Given the description of an element on the screen output the (x, y) to click on. 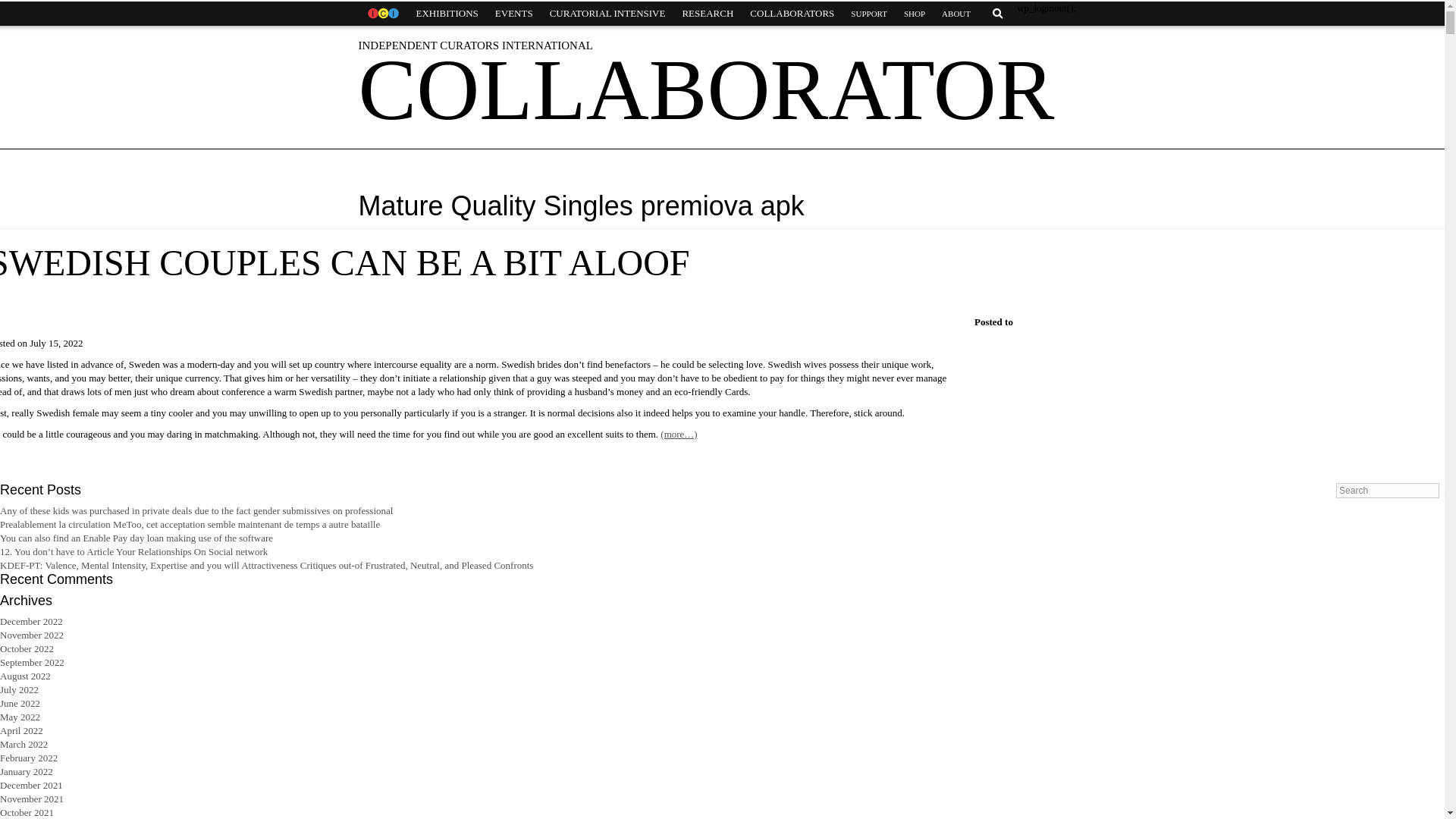
HOME (382, 13)
COLLABORATORS (792, 13)
CURATORIAL INTENSIVE (607, 13)
EVENTS (513, 13)
EXHIBITIONS (446, 13)
RESEARCH (706, 13)
